Given the description of an element on the screen output the (x, y) to click on. 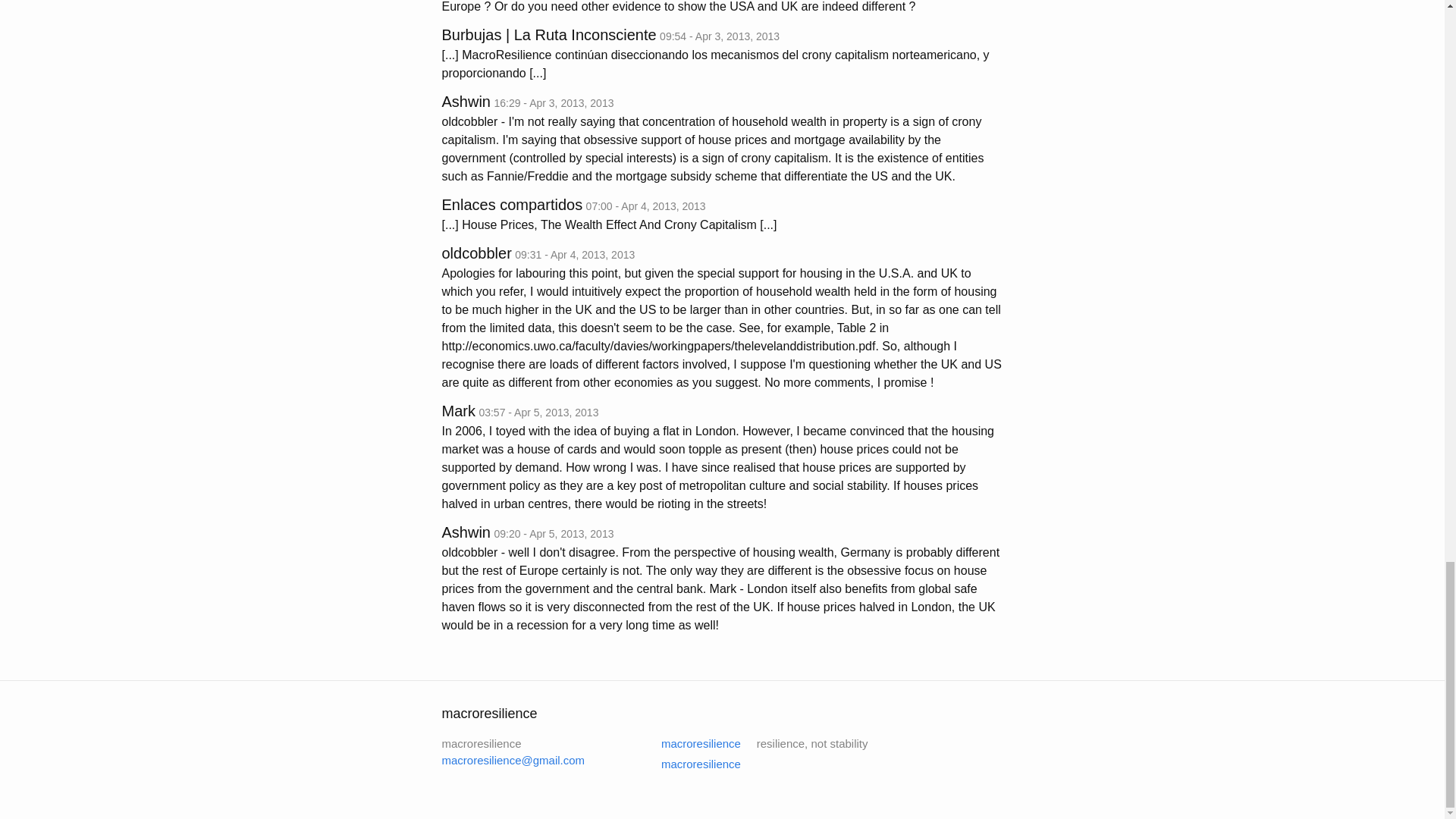
macroresilience (691, 763)
macroresilience (691, 743)
